Given the description of an element on the screen output the (x, y) to click on. 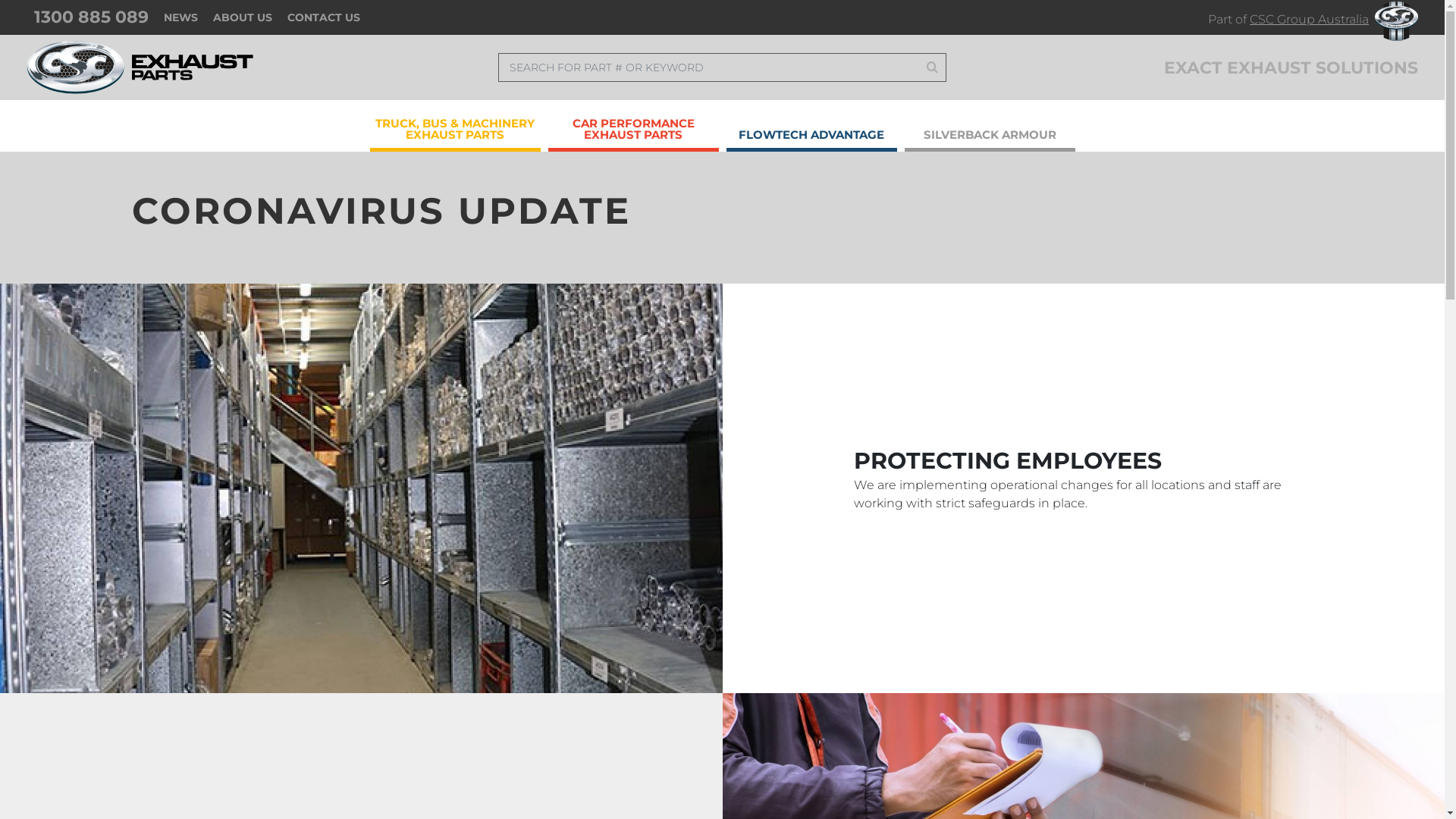
TRUCK, BUS & MACHINERY EXHAUST PARTS Element type: text (455, 123)
ABOUT US Element type: text (242, 17)
CAR PERFORMANCE EXHAUST PARTS Element type: text (632, 123)
NEWS Element type: text (180, 17)
SILVERBACK ARMOUR Element type: text (988, 129)
FLOWTECH ADVANTAGE Element type: text (811, 129)
1300 885 089 Element type: text (91, 17)
CONTACT US Element type: text (323, 17)
CSC Group Australia Element type: text (1308, 19)
